Given the description of an element on the screen output the (x, y) to click on. 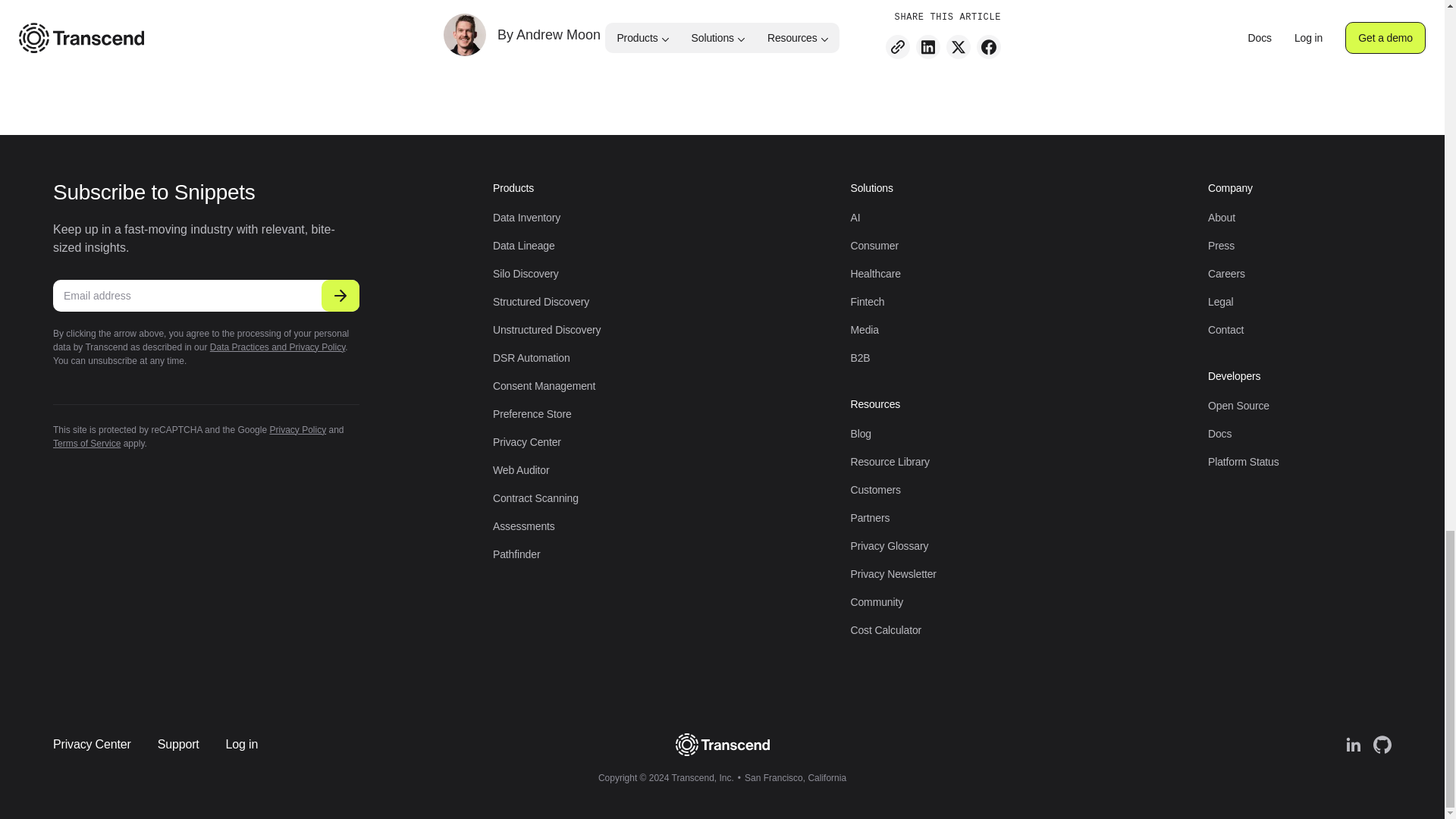
Consent Management (544, 386)
Data Lineage (523, 245)
Data Practices and Privacy Policy (277, 347)
Privacy Policy (297, 429)
Silo Discovery (526, 273)
Terms of Service (86, 443)
DSR Automation (531, 357)
Preference Store (532, 413)
Data Inventory (526, 217)
Structured Discovery (541, 301)
Submit (340, 296)
Andrew Moon (557, 34)
Unstructured Discovery (546, 329)
